Given the description of an element on the screen output the (x, y) to click on. 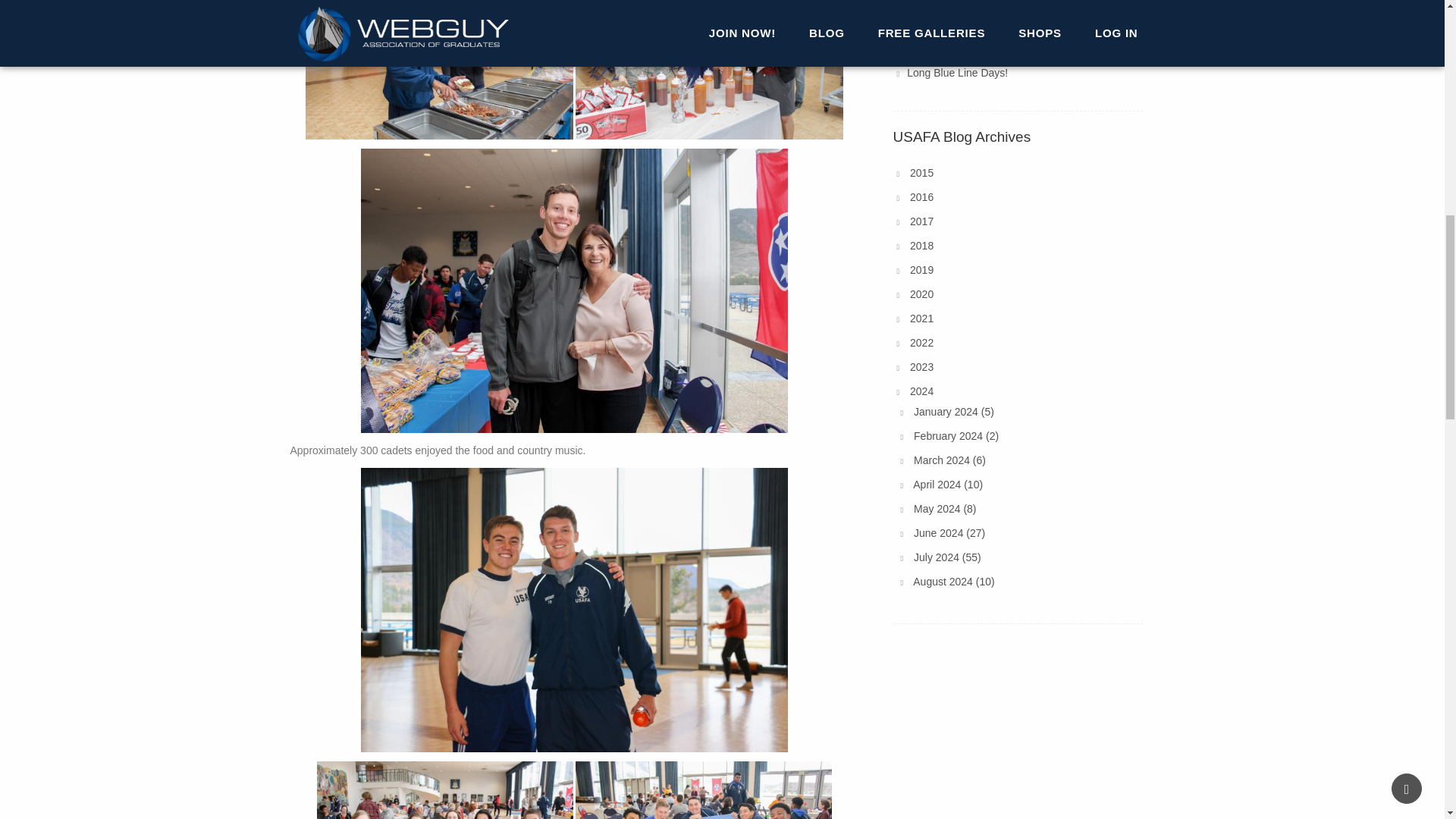
2015 (921, 173)
Long Blue Line Days! (957, 72)
Acceptance Day! (947, 24)
Bonus content - BCT FEST (971, 48)
Commitment Dinner - Class of 2026 (991, 2)
